Given the description of an element on the screen output the (x, y) to click on. 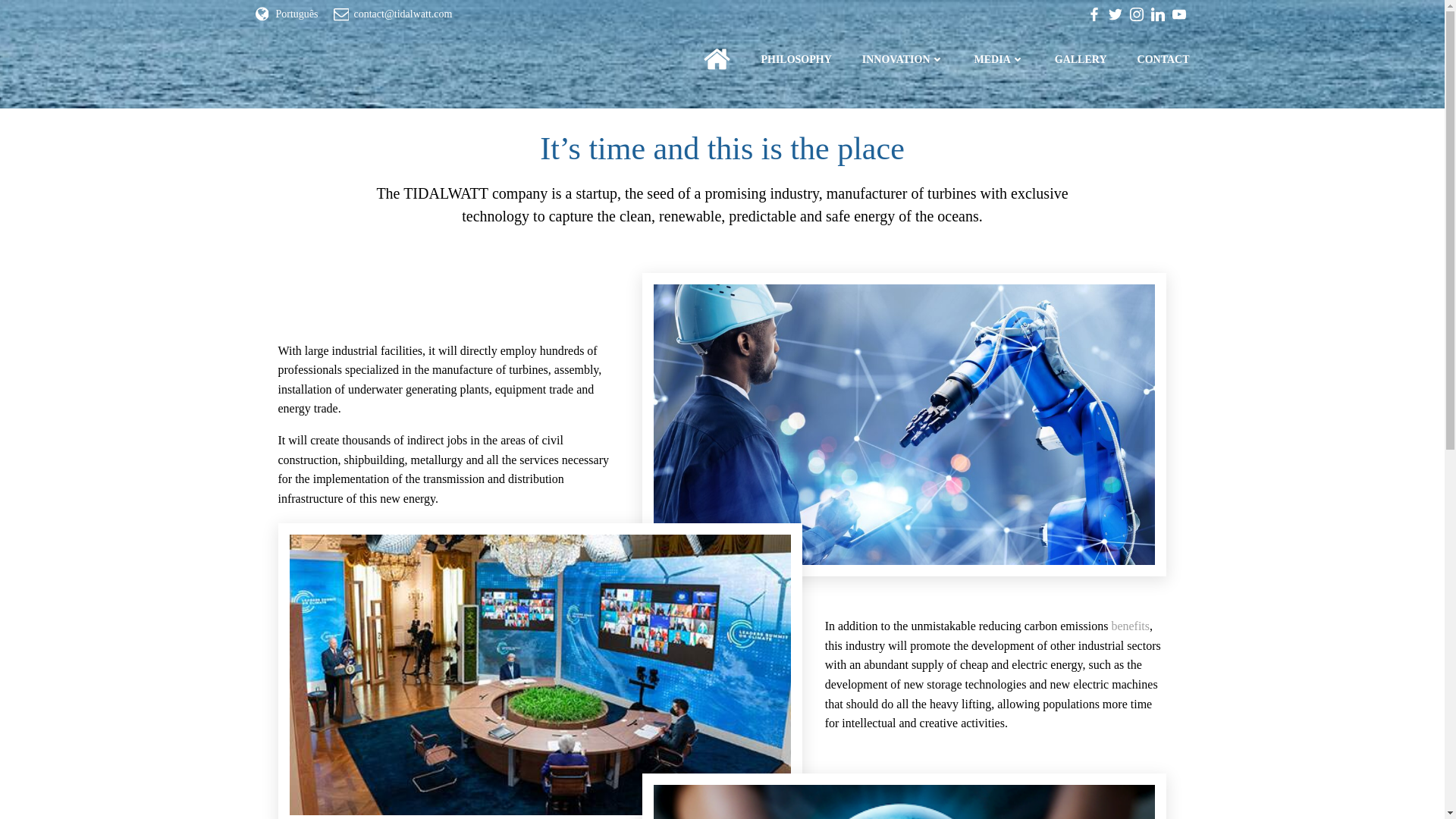
PHILOSOPHY (795, 59)
INNOVATION (902, 59)
GALLERY (1080, 59)
CONTACT (1163, 59)
MEDIA (999, 59)
